Given the description of an element on the screen output the (x, y) to click on. 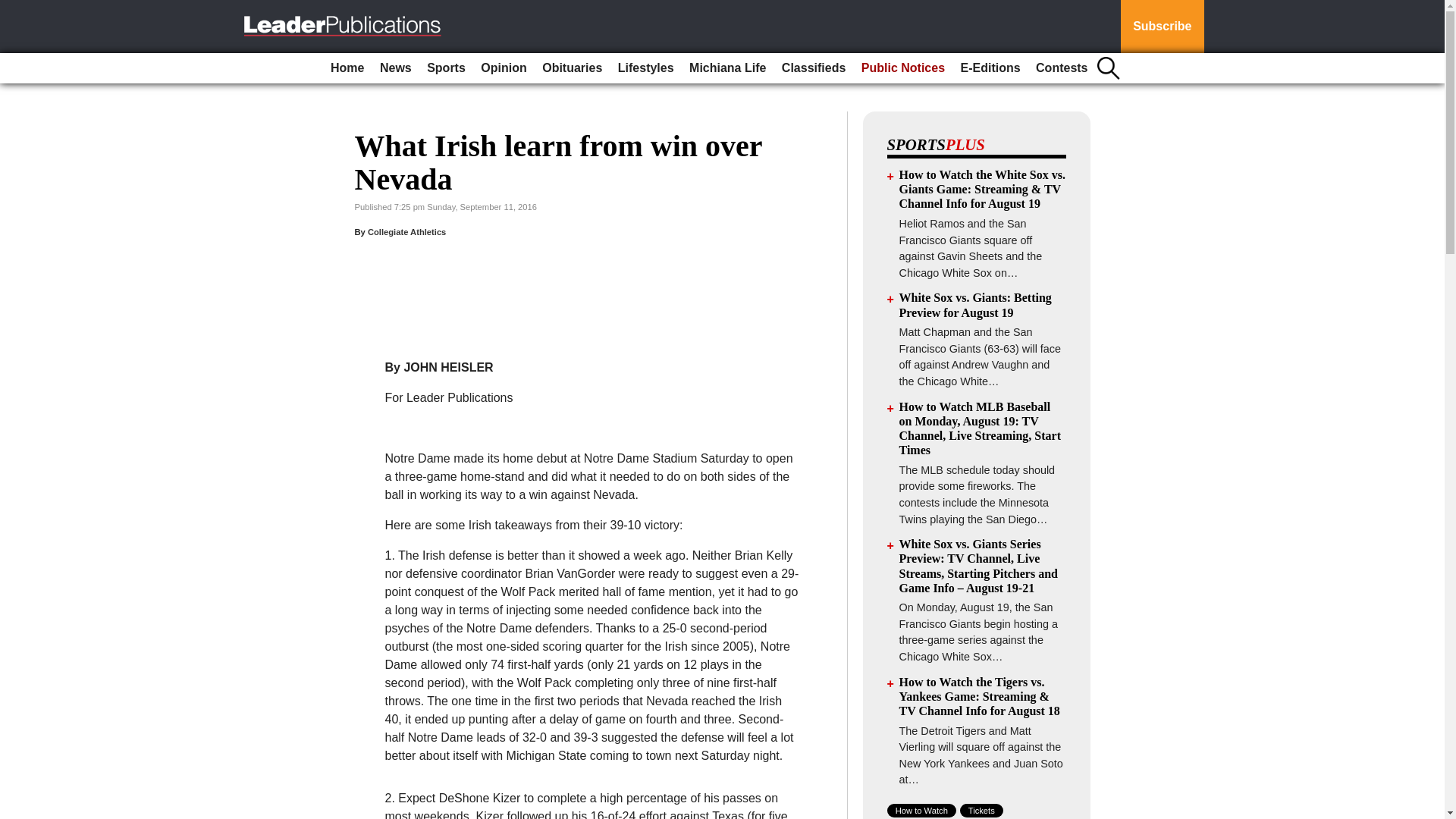
White Sox vs. Giants: Betting Preview for August 19 (975, 304)
Michiana Life (726, 68)
E-Editions (989, 68)
News (395, 68)
Home (346, 68)
How to Watch (921, 810)
Lifestyles (645, 68)
Tickets (981, 810)
Go (13, 9)
